Given the description of an element on the screen output the (x, y) to click on. 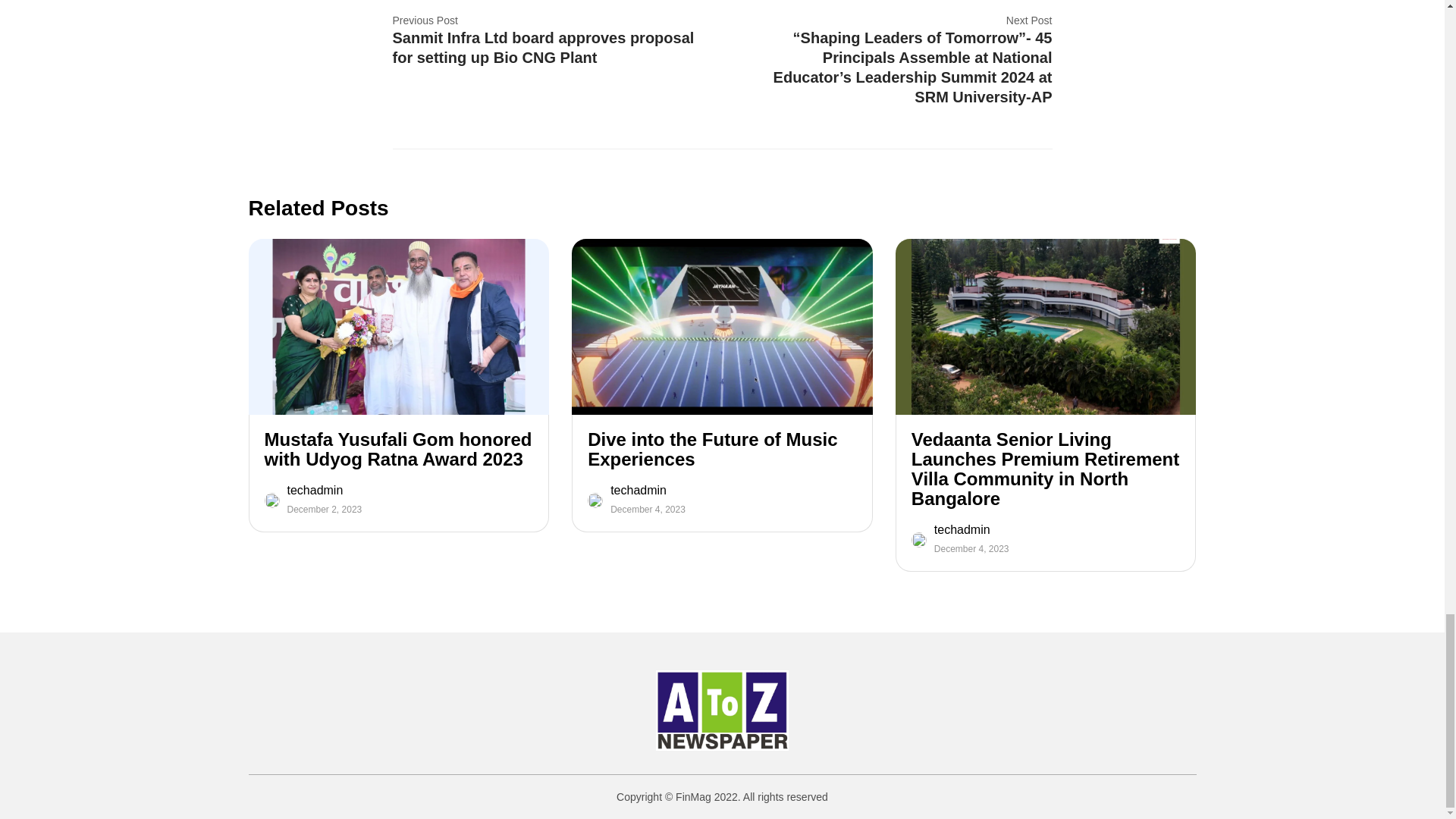
Mustafa Yusufali Gom honored with Udyog Ratna Award 2023 (397, 449)
techadmin (647, 490)
Dive into the Future of Music Experiences (722, 449)
techadmin (971, 530)
techadmin (323, 490)
